Given the description of an element on the screen output the (x, y) to click on. 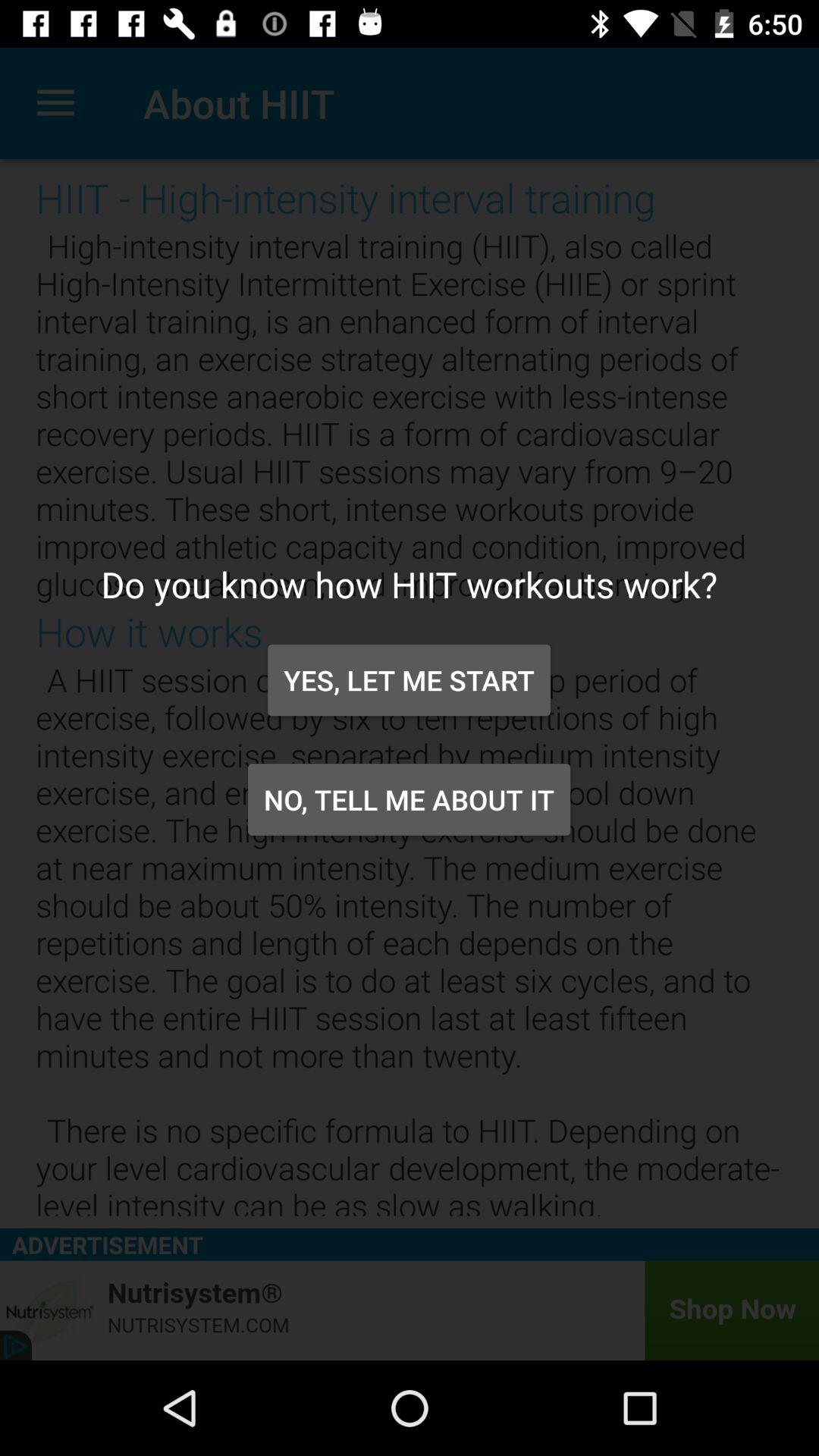
select the yes let me item (408, 680)
